Given the description of an element on the screen output the (x, y) to click on. 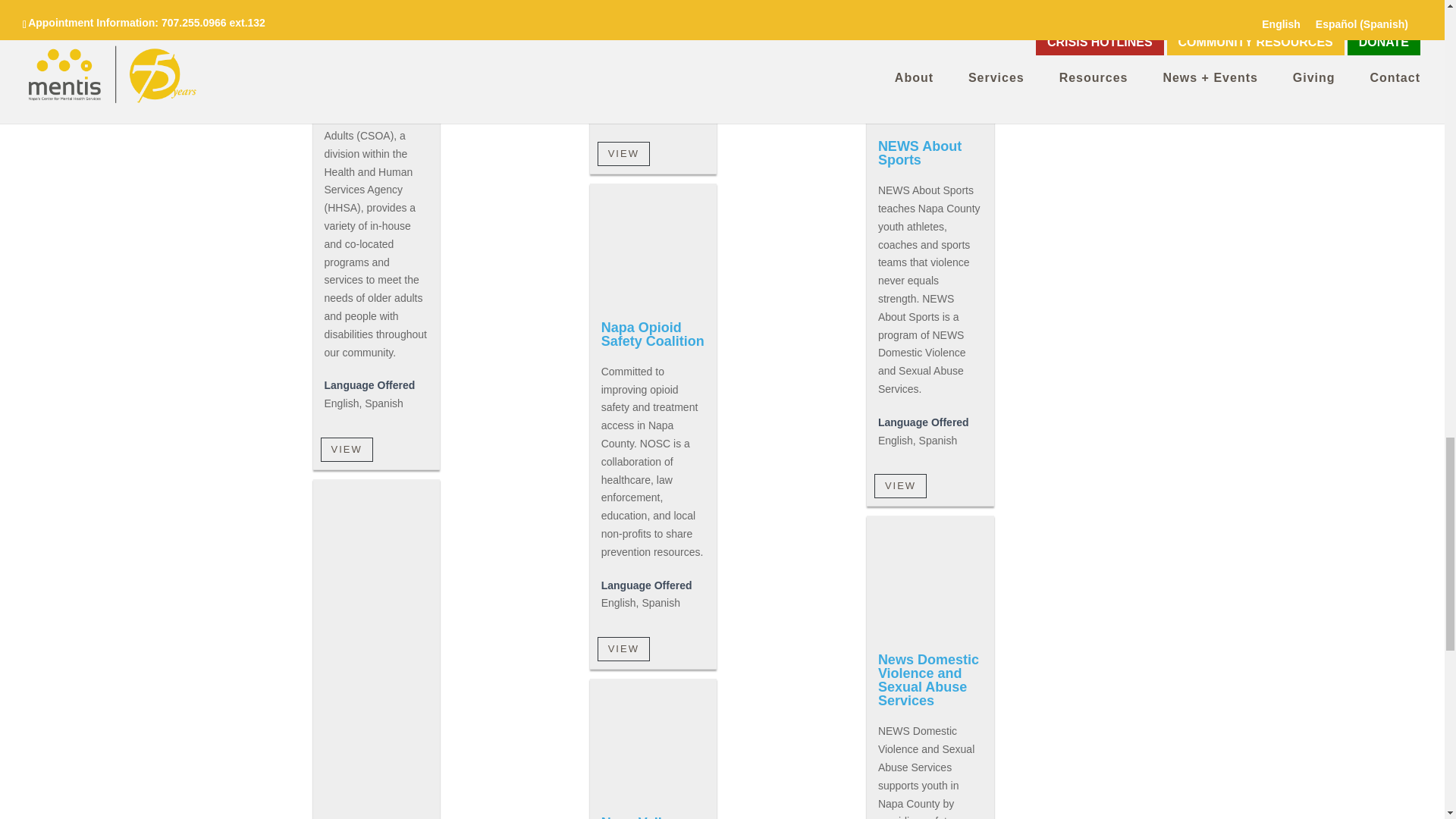
NCOE Logo (376, 544)
